Given the description of an element on the screen output the (x, y) to click on. 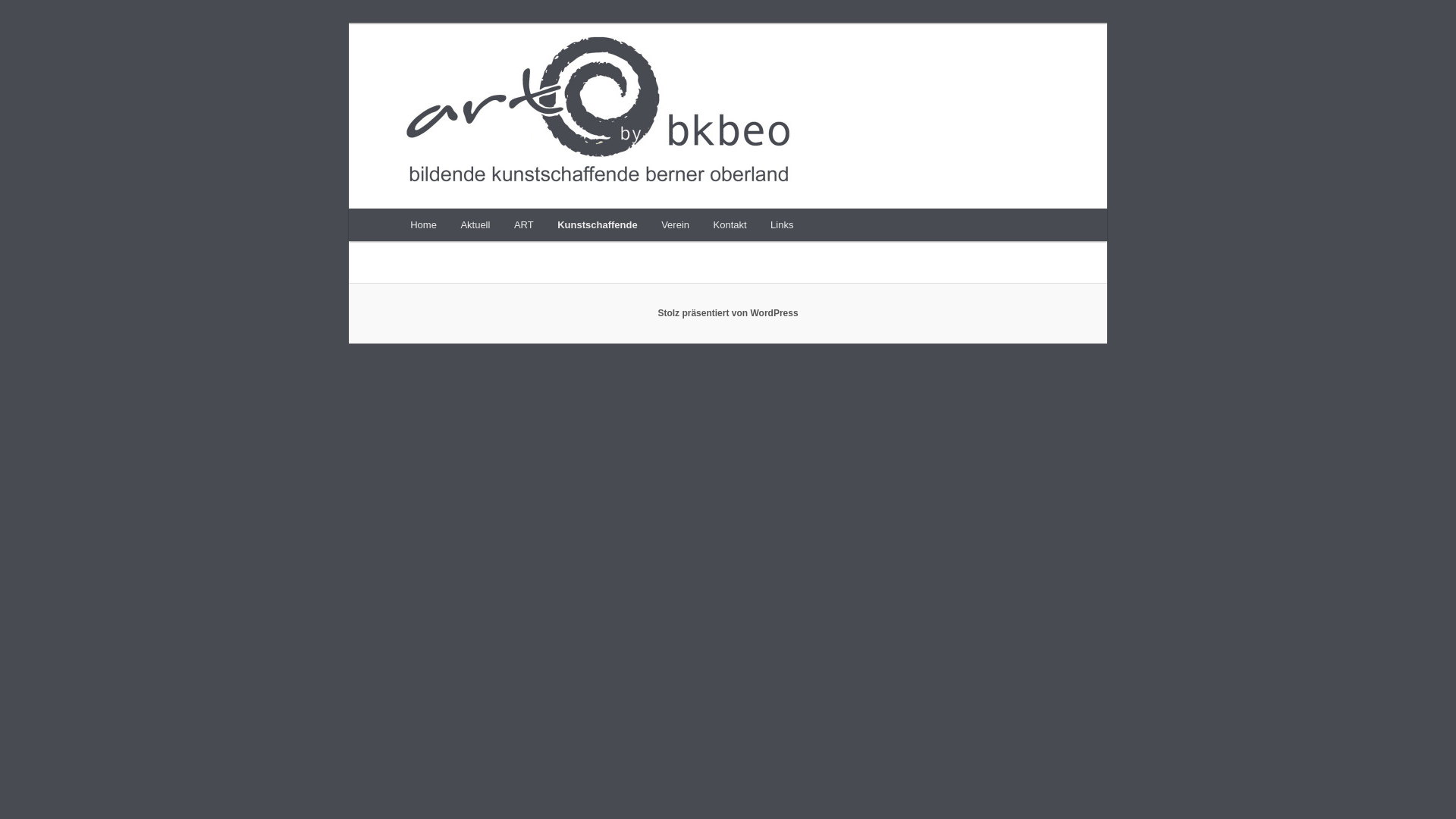
Kunstschaffende Element type: text (597, 224)
Aktuell Element type: text (475, 224)
Links Element type: text (781, 224)
ART Element type: text (523, 224)
Zum Inhalt wechseln Element type: text (22, 22)
Verein Element type: text (674, 224)
Home Element type: text (423, 224)
Kontakt Element type: text (730, 224)
bkbeo Element type: text (439, 78)
